Given the description of an element on the screen output the (x, y) to click on. 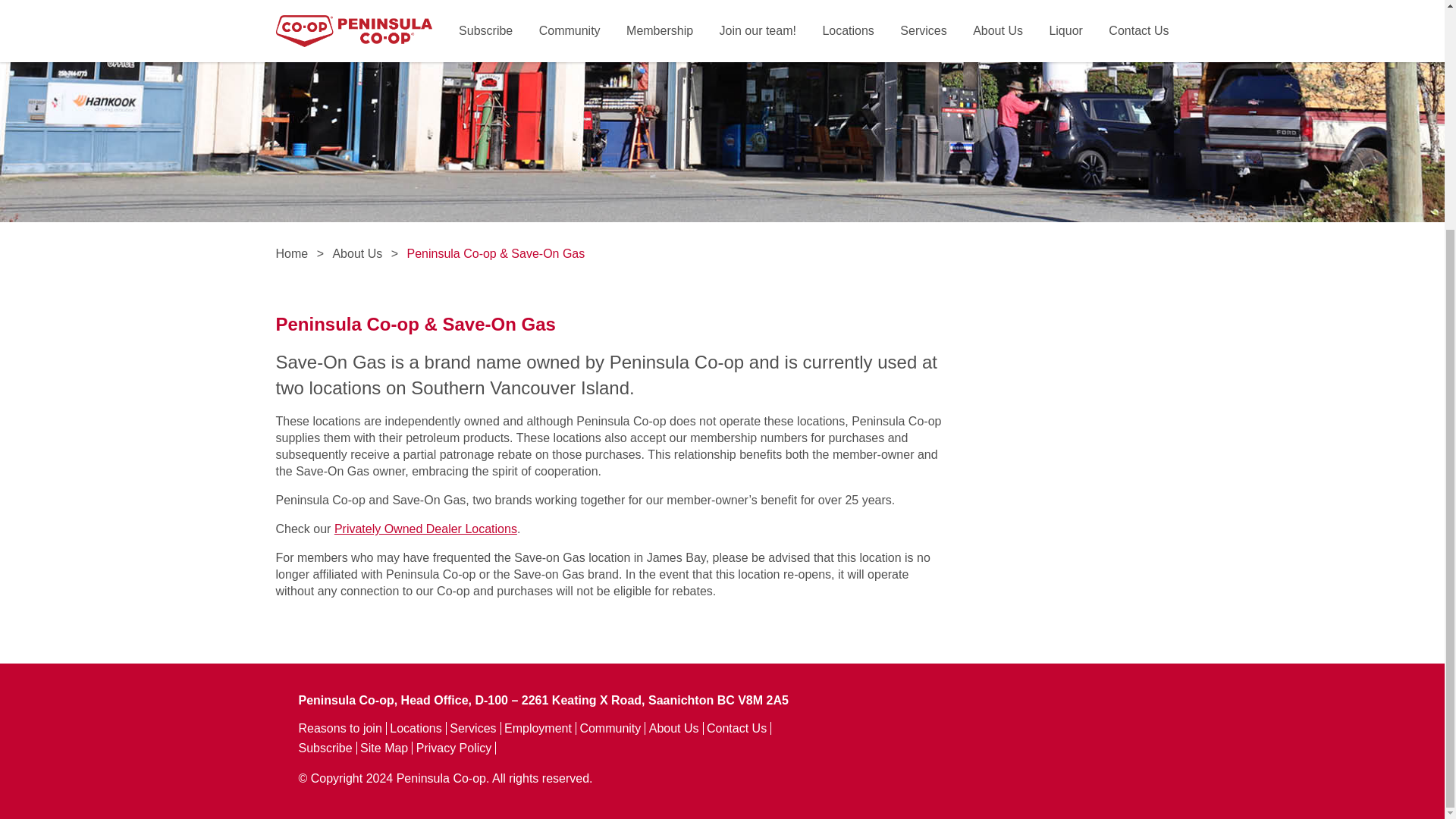
Peninsula CO-OP's Youtube Channel (922, 769)
Peninsula CO-OP's Instagram (1005, 769)
Peninsula CO-OP's Twitter (964, 769)
Go to Peninsula Co-op. (292, 253)
Go to About Us. (356, 253)
Peninsula CO-OP's Facebook (881, 769)
